Given the description of an element on the screen output the (x, y) to click on. 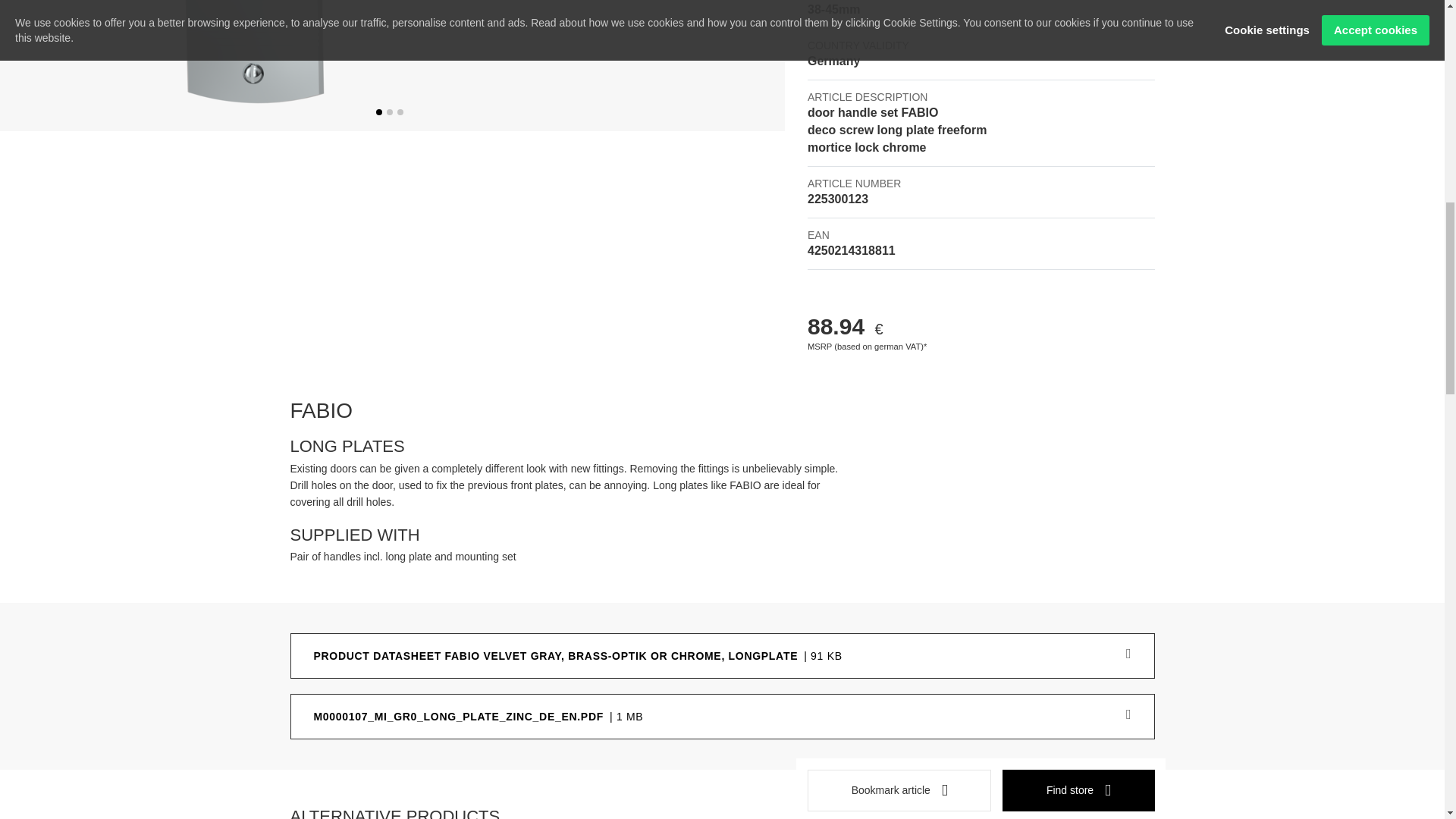
3 (400, 111)
2 (390, 111)
1 (378, 111)
